Given the description of an element on the screen output the (x, y) to click on. 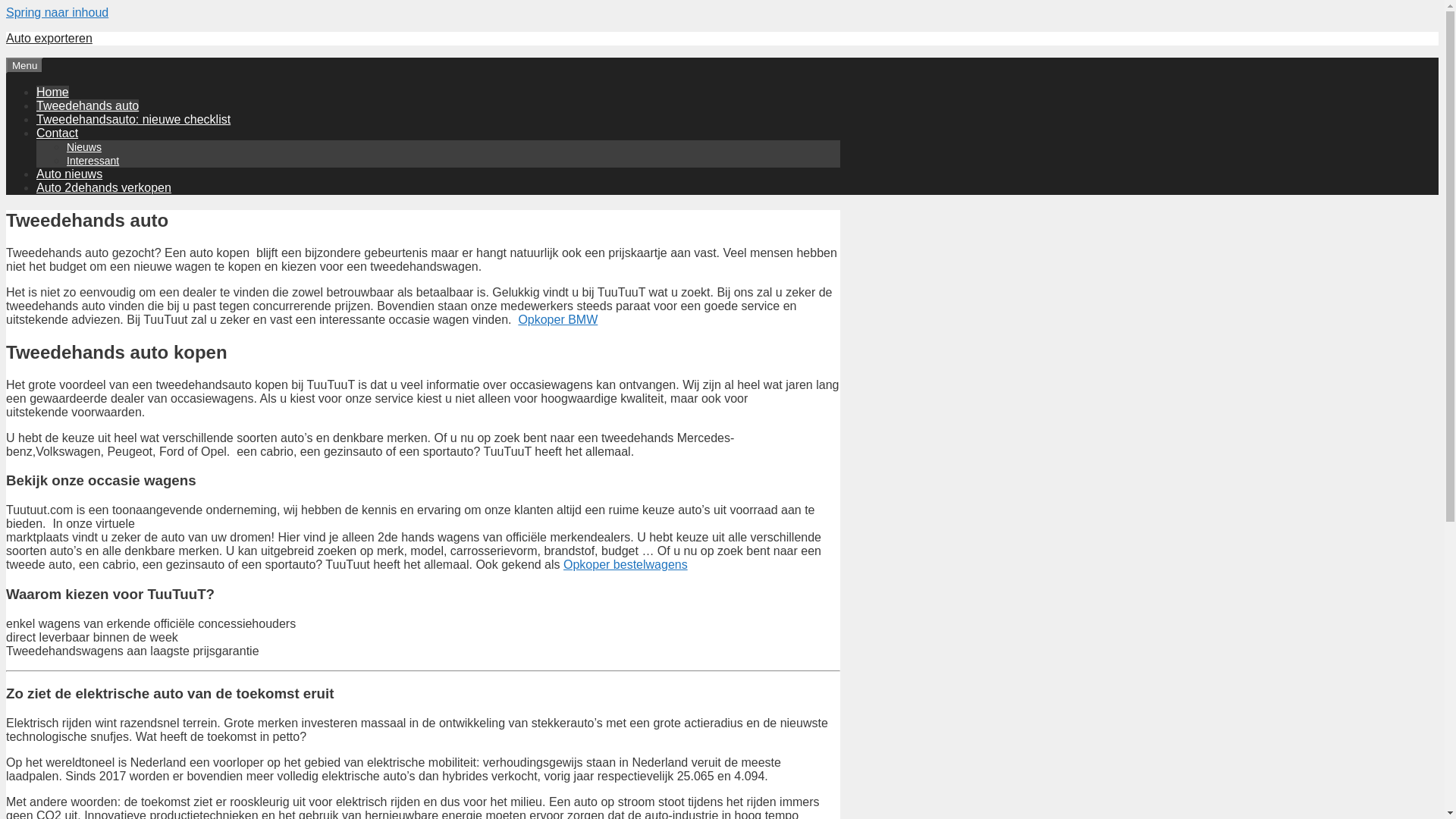
Contact Element type: text (57, 132)
Spring naar inhoud Element type: text (57, 12)
Home Element type: text (52, 91)
Nieuws Element type: text (83, 147)
Opkoper bestelwagens Element type: text (625, 564)
Tweedehands auto Element type: text (87, 105)
Menu Element type: text (24, 65)
Auto exporteren Element type: text (49, 37)
Interessant Element type: text (92, 160)
Opkoper BMW Element type: text (557, 319)
Tweedehandsauto: nieuwe checklist Element type: text (133, 118)
Auto 2dehands verkopen Element type: text (103, 187)
Auto nieuws Element type: text (69, 173)
